Given the description of an element on the screen output the (x, y) to click on. 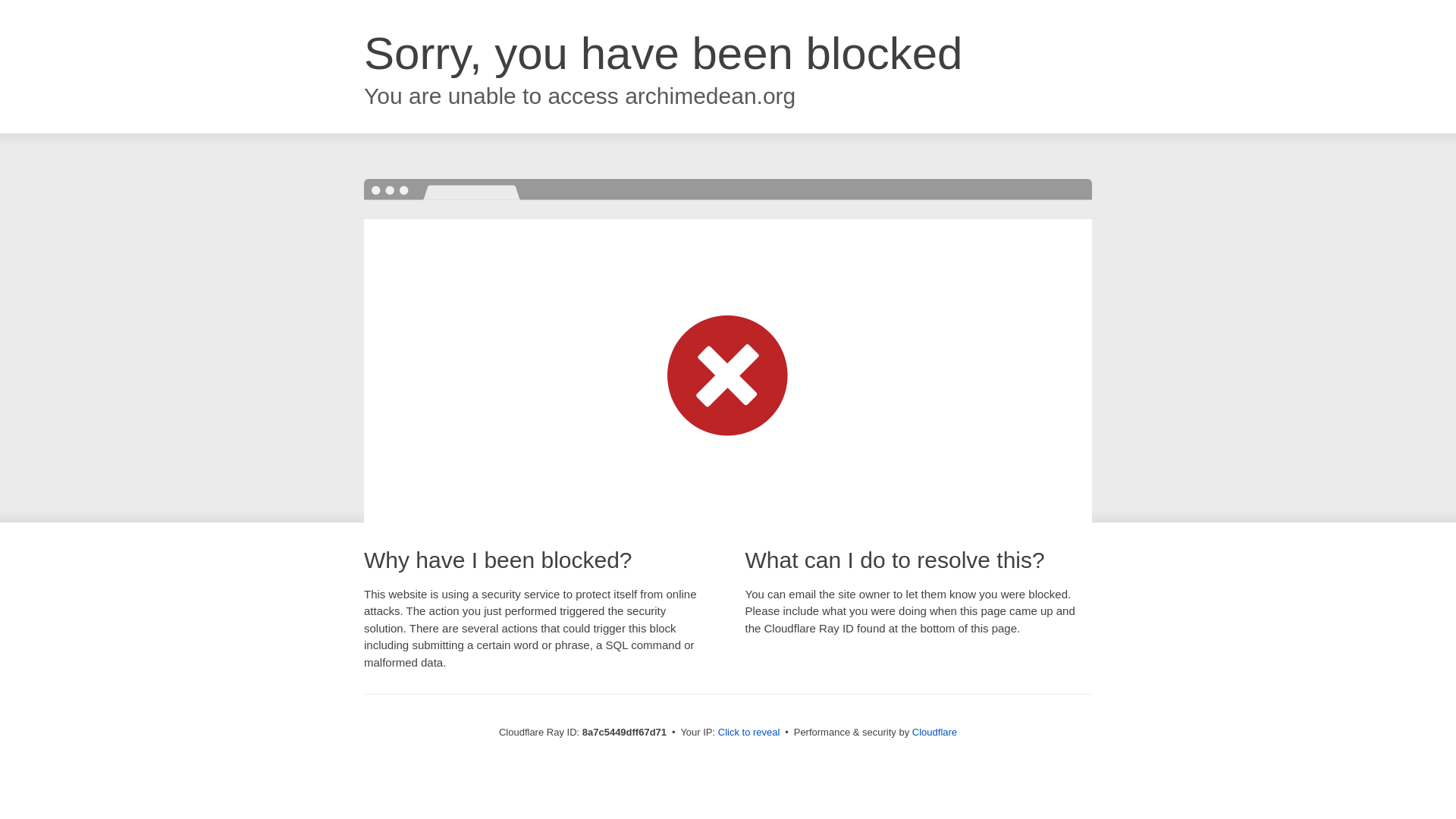
Click to reveal (748, 732)
Cloudflare (934, 731)
